Given the description of an element on the screen output the (x, y) to click on. 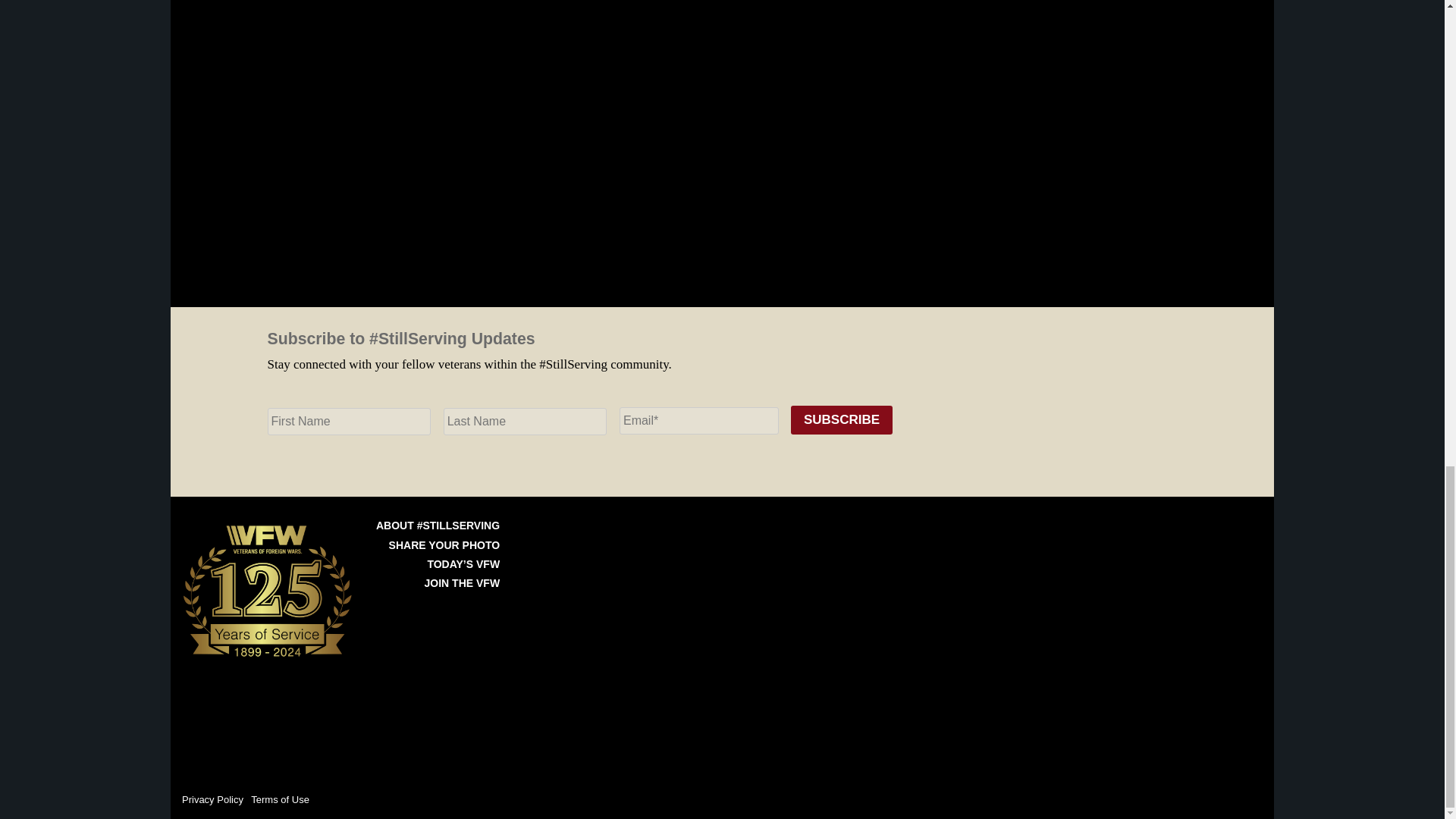
JOIN THE VFW (462, 582)
SUBSCRIBE (841, 419)
Terms of Use (279, 799)
Privacy Policy (212, 799)
SHARE YOUR PHOTO (444, 544)
SUBSCRIBE (841, 419)
